Given the description of an element on the screen output the (x, y) to click on. 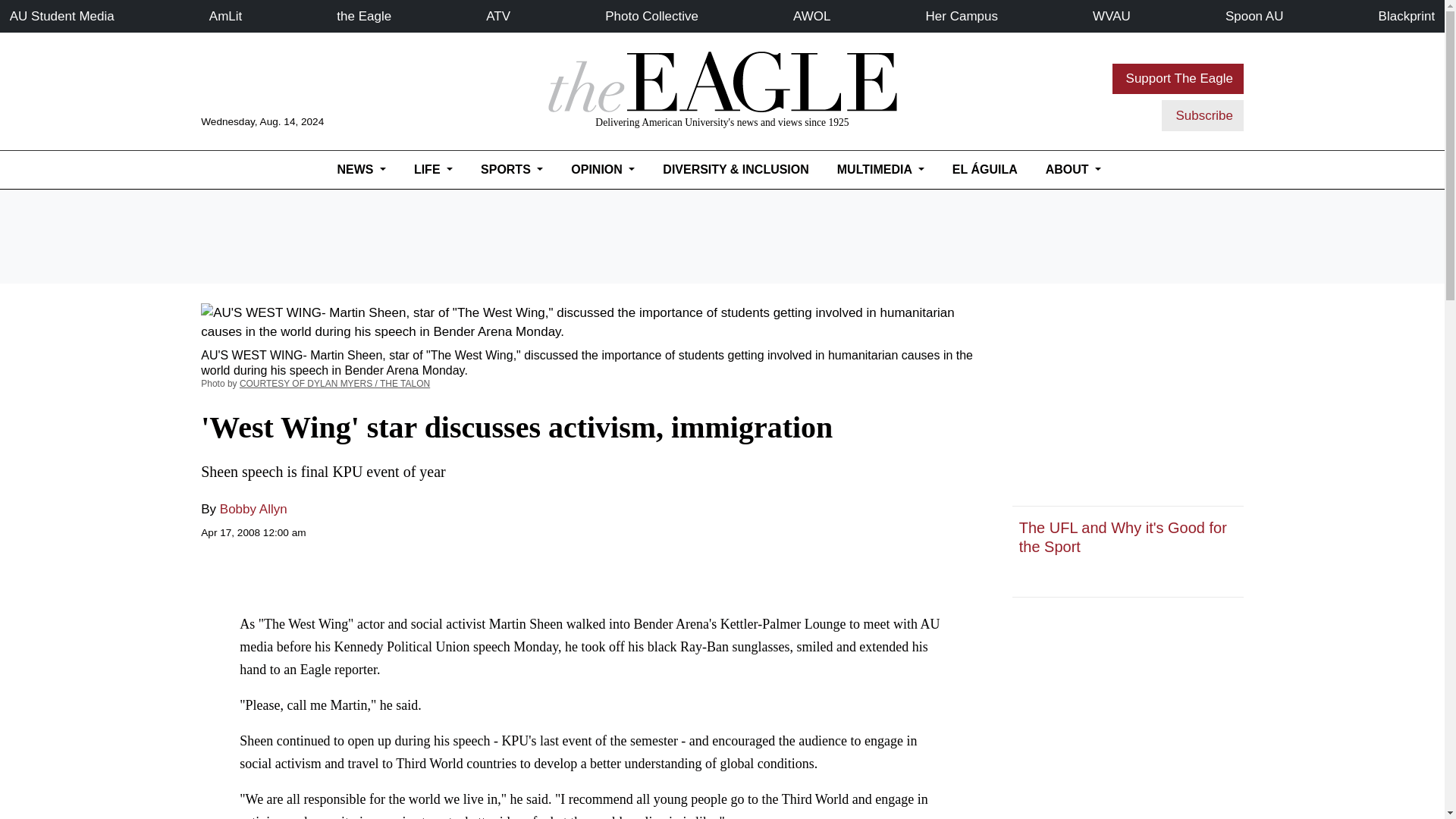
OPINION (603, 170)
NEWS (360, 170)
AU Student Media (62, 16)
ATV (498, 16)
Spoon AU (1254, 16)
AmLit (225, 16)
Her Campus (961, 16)
Photo Collective (651, 16)
LIFE (432, 170)
Subscribe (1202, 114)
